Given the description of an element on the screen output the (x, y) to click on. 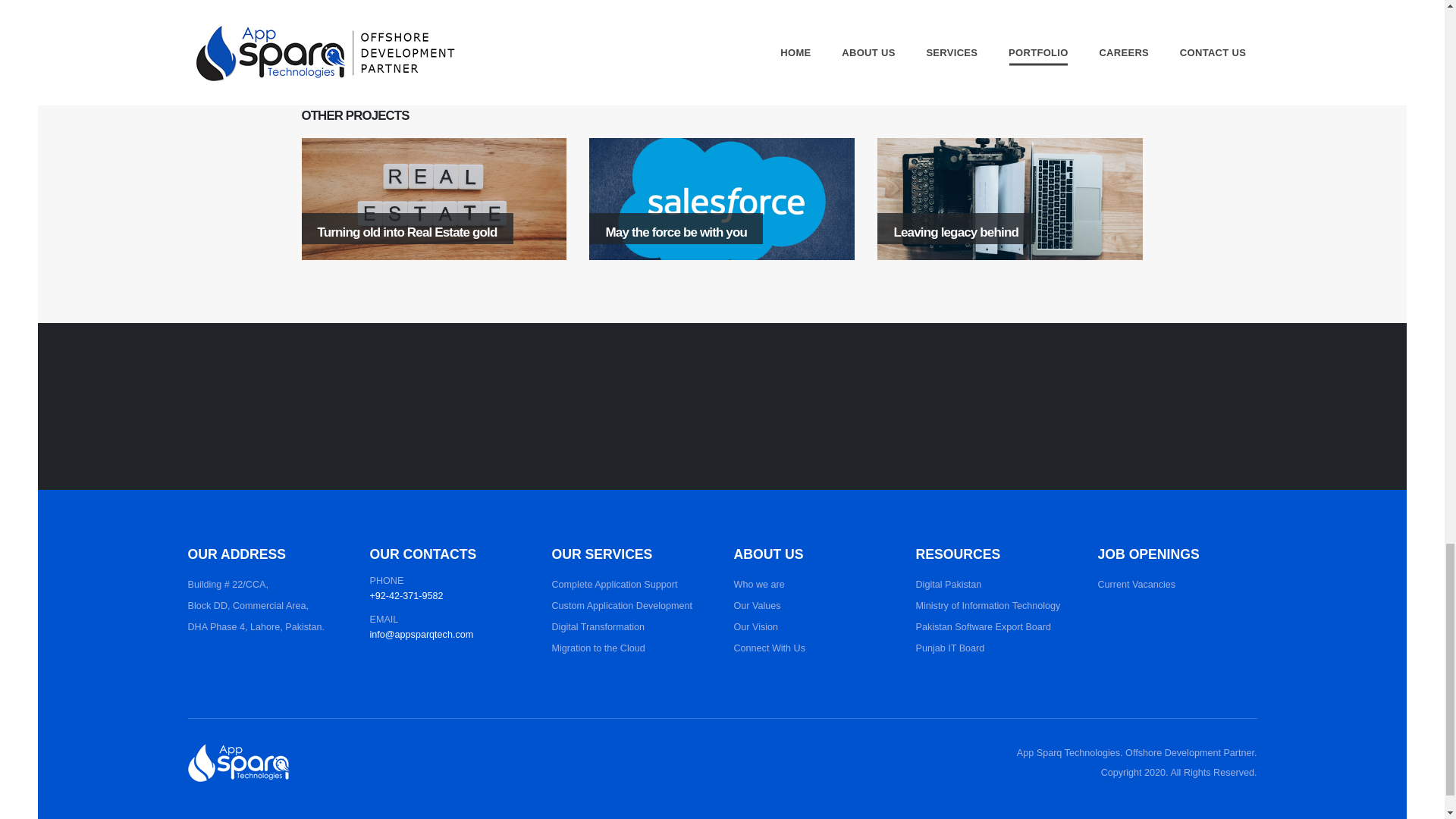
Leaving legacy behind (1009, 199)
Digital Transformation (598, 626)
Ministry of Information Technology (988, 605)
Pakistan Software Export Board (983, 626)
Who we are (758, 584)
Connect With Us (769, 647)
Our Values (756, 605)
Digital Pakistan (948, 584)
Punjab IT Board (950, 647)
Our Vision (755, 626)
Current Vacancies (1136, 584)
Complete Application Support (614, 584)
Migration to the Cloud (598, 647)
Turning old into Real Estate gold (434, 199)
Custom Application Development (622, 605)
